Given the description of an element on the screen output the (x, y) to click on. 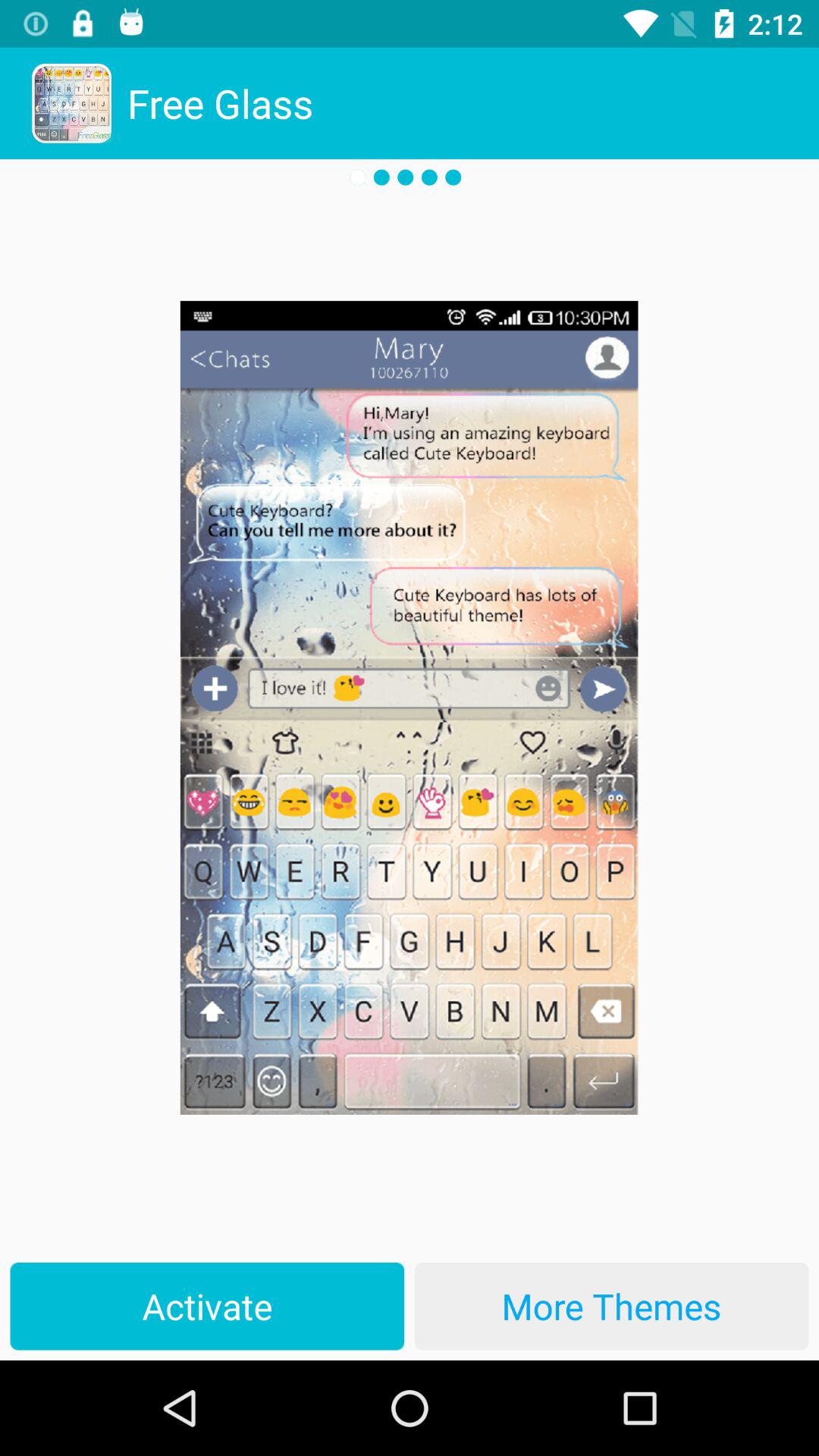
tap more themes at the bottom right corner (611, 1306)
